Given the description of an element on the screen output the (x, y) to click on. 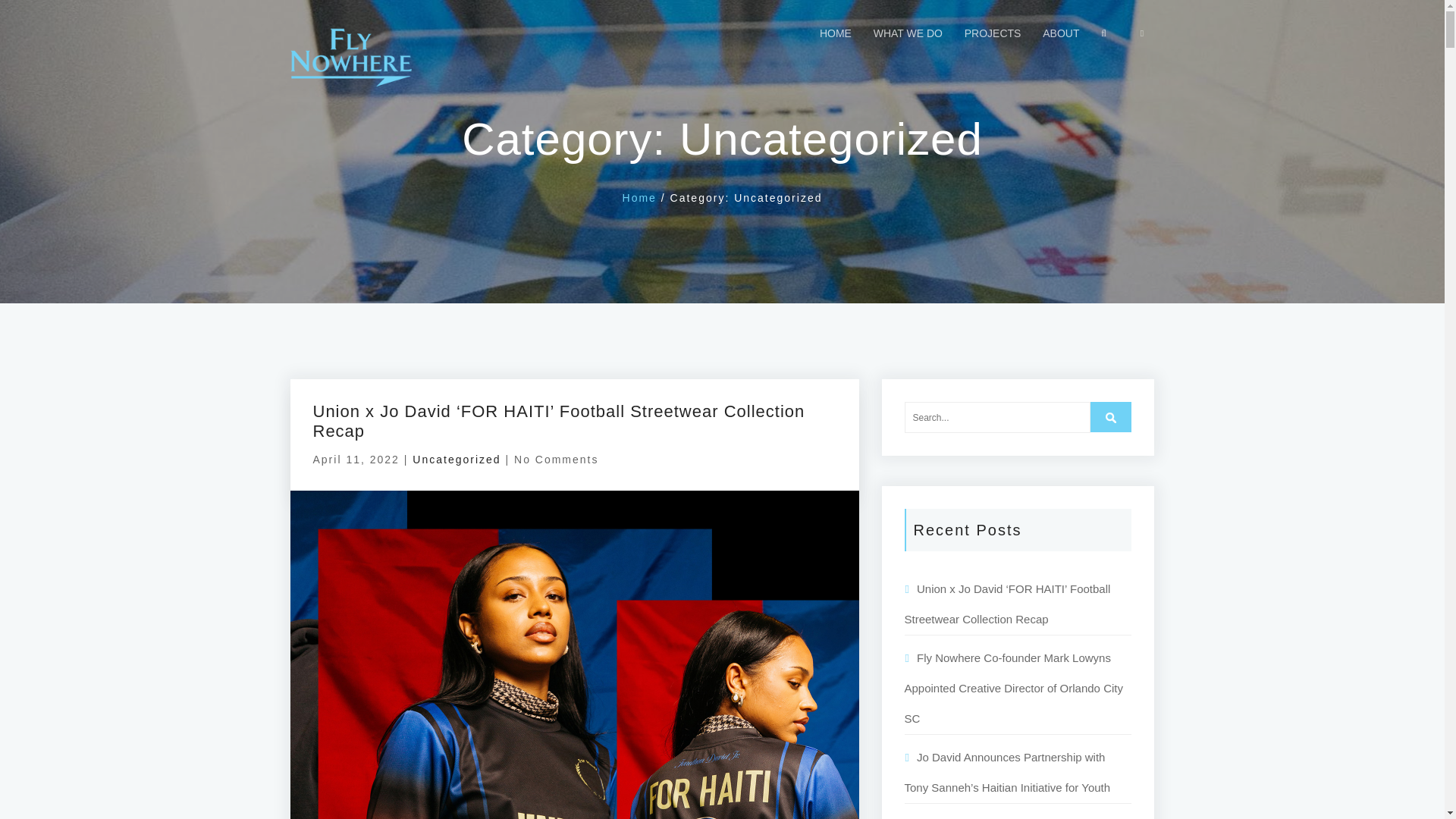
Home (639, 197)
Uncategorized (456, 459)
WHAT WE DO (907, 33)
Search (1110, 417)
